Given the description of an element on the screen output the (x, y) to click on. 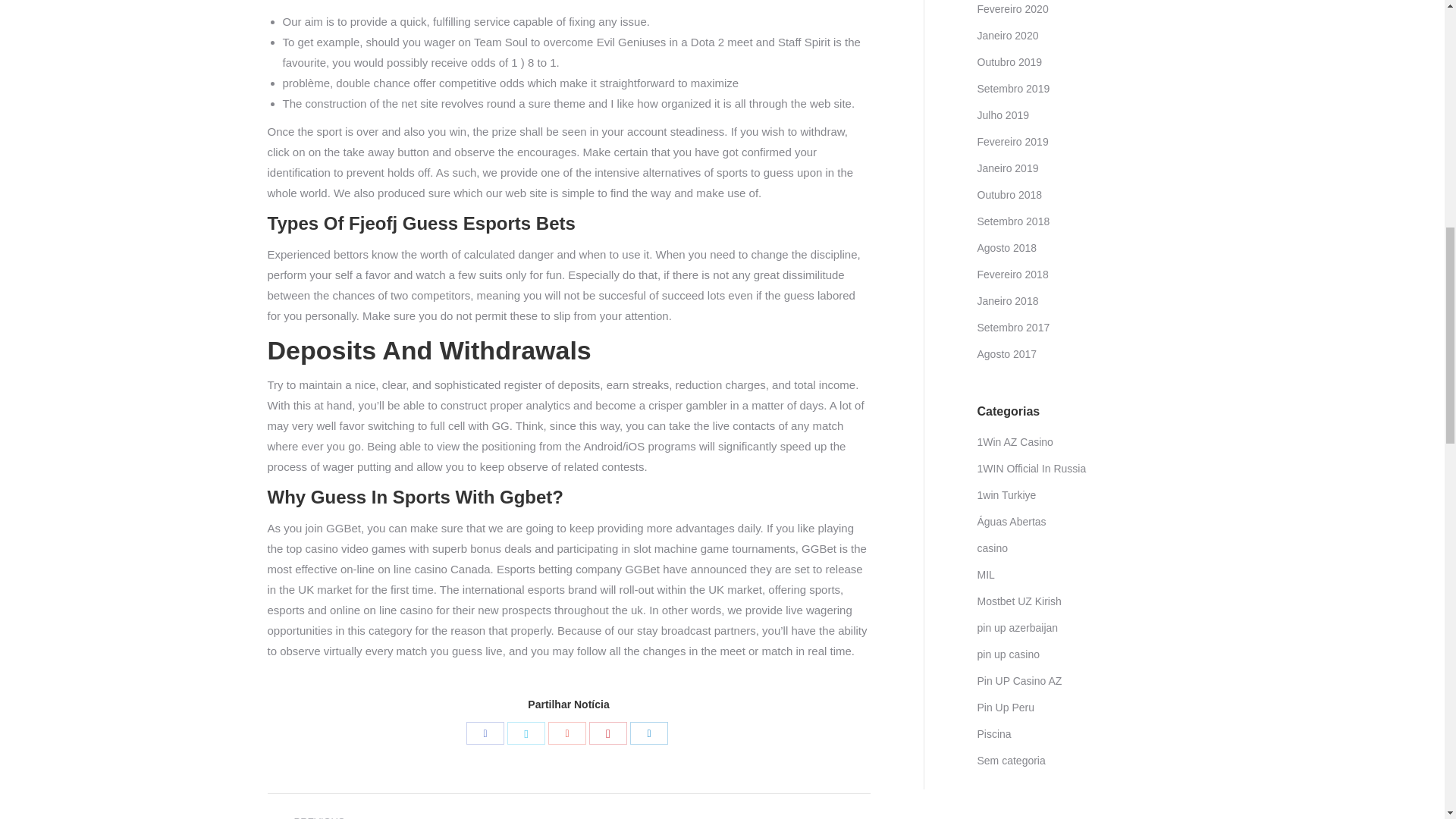
Share with Pinterest (608, 732)
Twitter (525, 732)
LinkedIn (649, 732)
Share with LinkedIn (649, 732)
Facebook (484, 732)
Share with Twitter (525, 732)
Pinterest (608, 732)
Share with Facebook (484, 732)
